Given the description of an element on the screen output the (x, y) to click on. 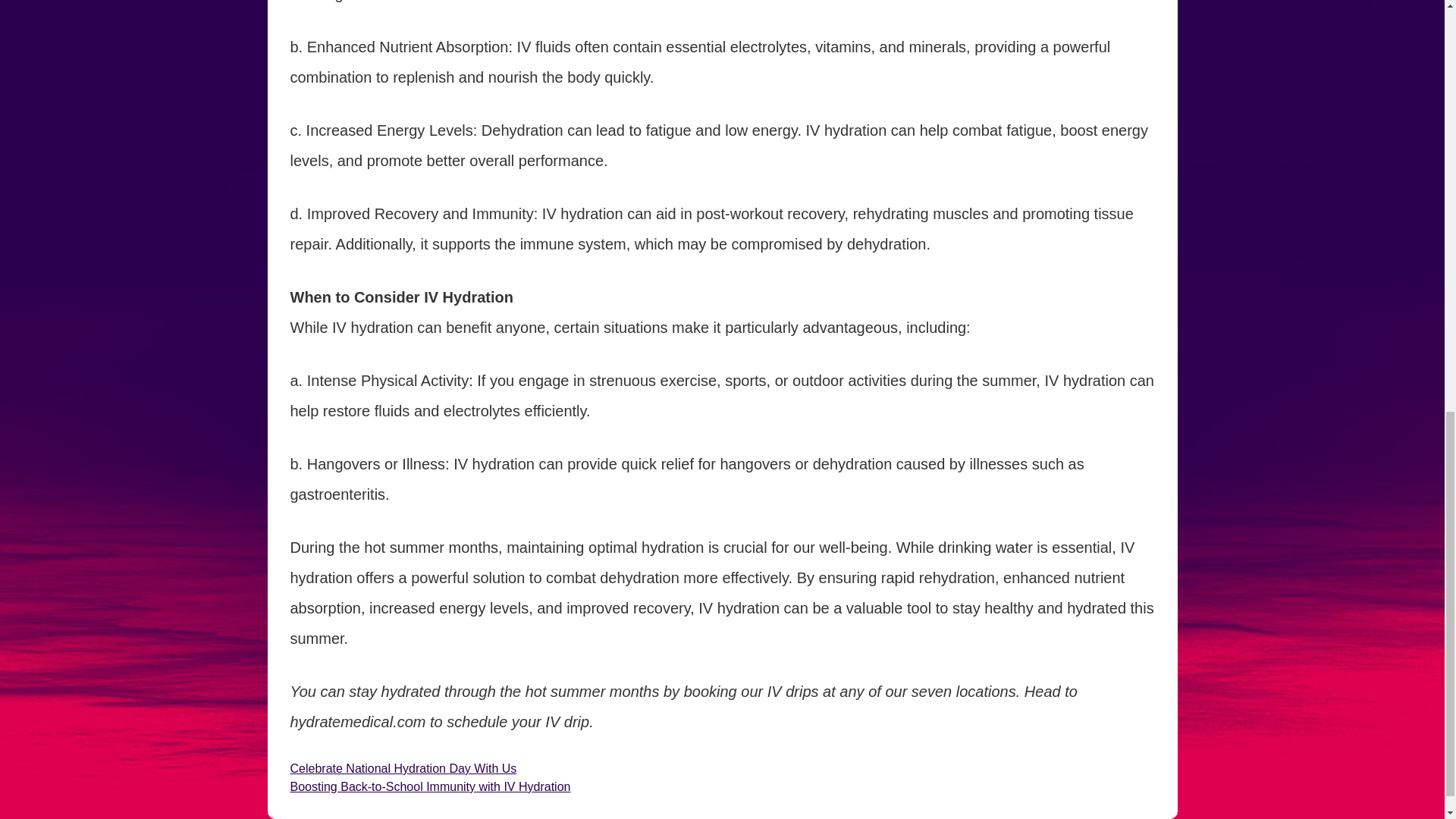
Celebrate National Hydration Day With Us (402, 768)
Boosting Back-to-School Immunity with IV Hydration (429, 786)
